Given the description of an element on the screen output the (x, y) to click on. 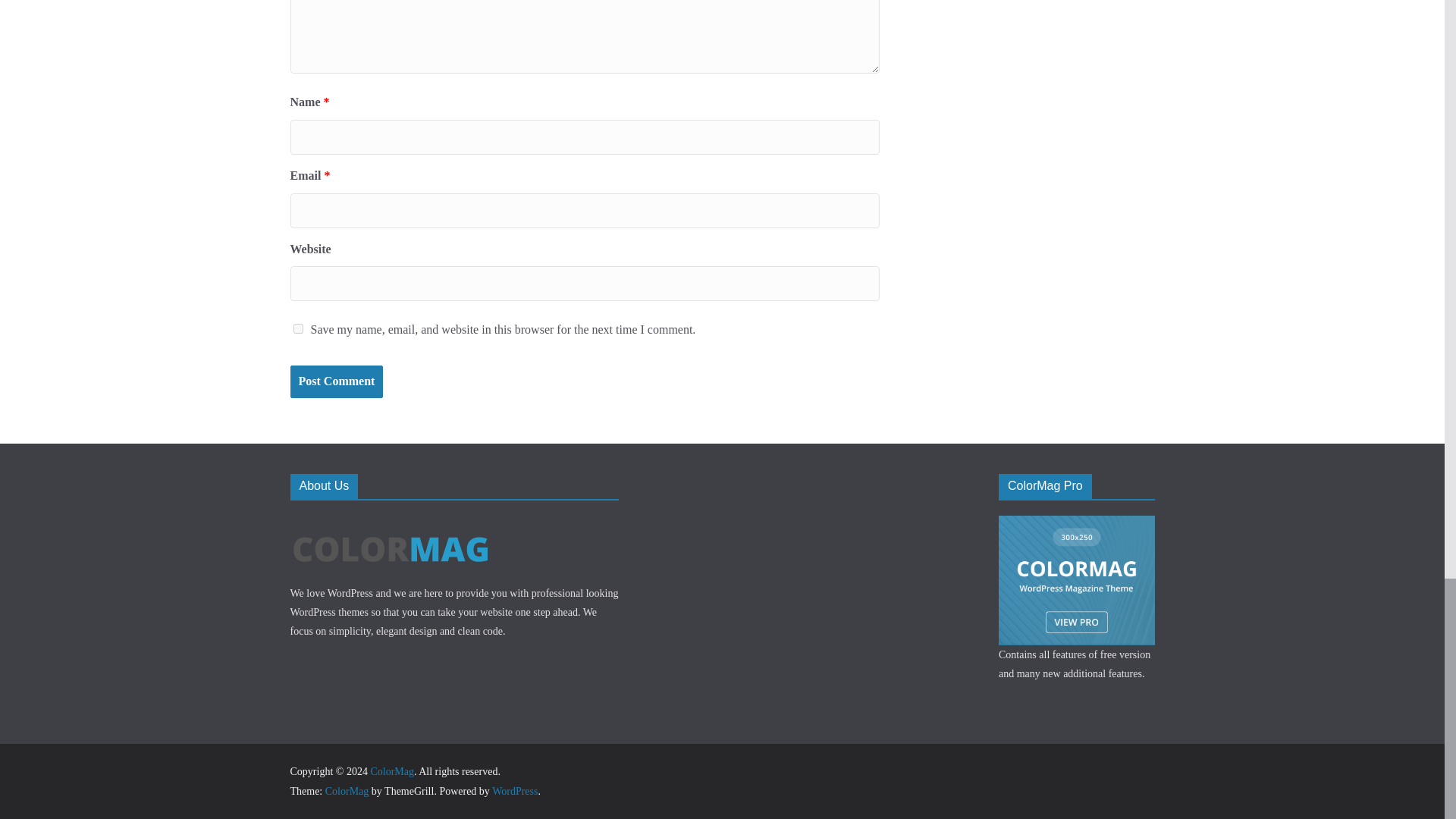
Post Comment (335, 381)
yes (297, 328)
Post Comment (335, 381)
